Given the description of an element on the screen output the (x, y) to click on. 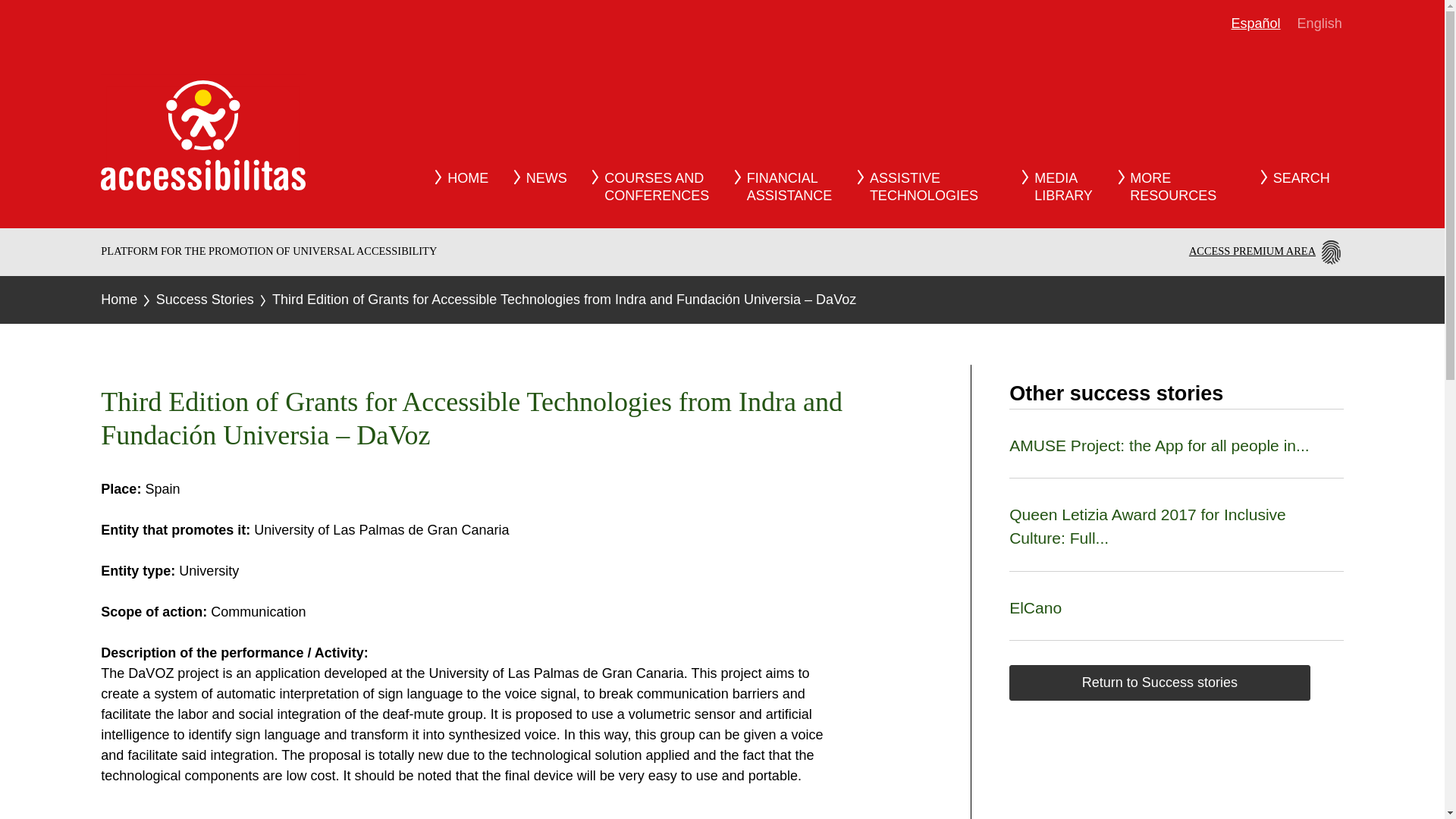
SEARCH (1301, 178)
Return to Success stories (1158, 683)
Home (118, 299)
HOME (467, 178)
NEWS (546, 178)
English (1319, 23)
Success Stories (1182, 187)
Logotipo de Accessibilitas. Volver a la pagina de inicio. (1062, 187)
AMUSE Project: the App for all people in... (933, 187)
AMUSE Project: the App for all people in smart museums (789, 187)
